Given the description of an element on the screen output the (x, y) to click on. 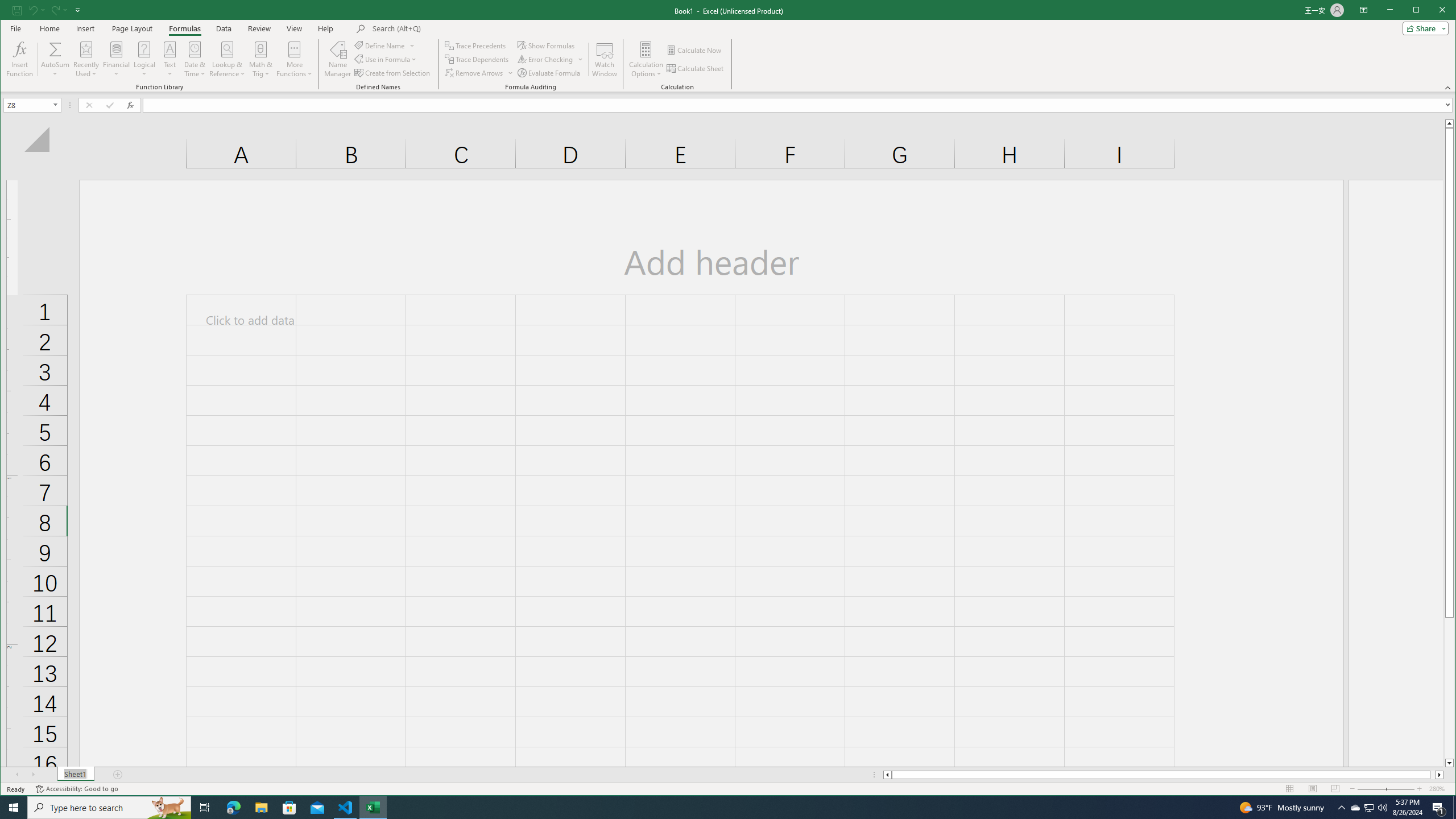
Sheet Tab (75, 774)
Remove Arrows (478, 72)
Running applications (717, 807)
Calculation Options (646, 59)
Recently Used (86, 59)
Text (170, 59)
Define Name (384, 45)
Maximize (1432, 11)
User Promoted Notification Area (1368, 807)
